Given the description of an element on the screen output the (x, y) to click on. 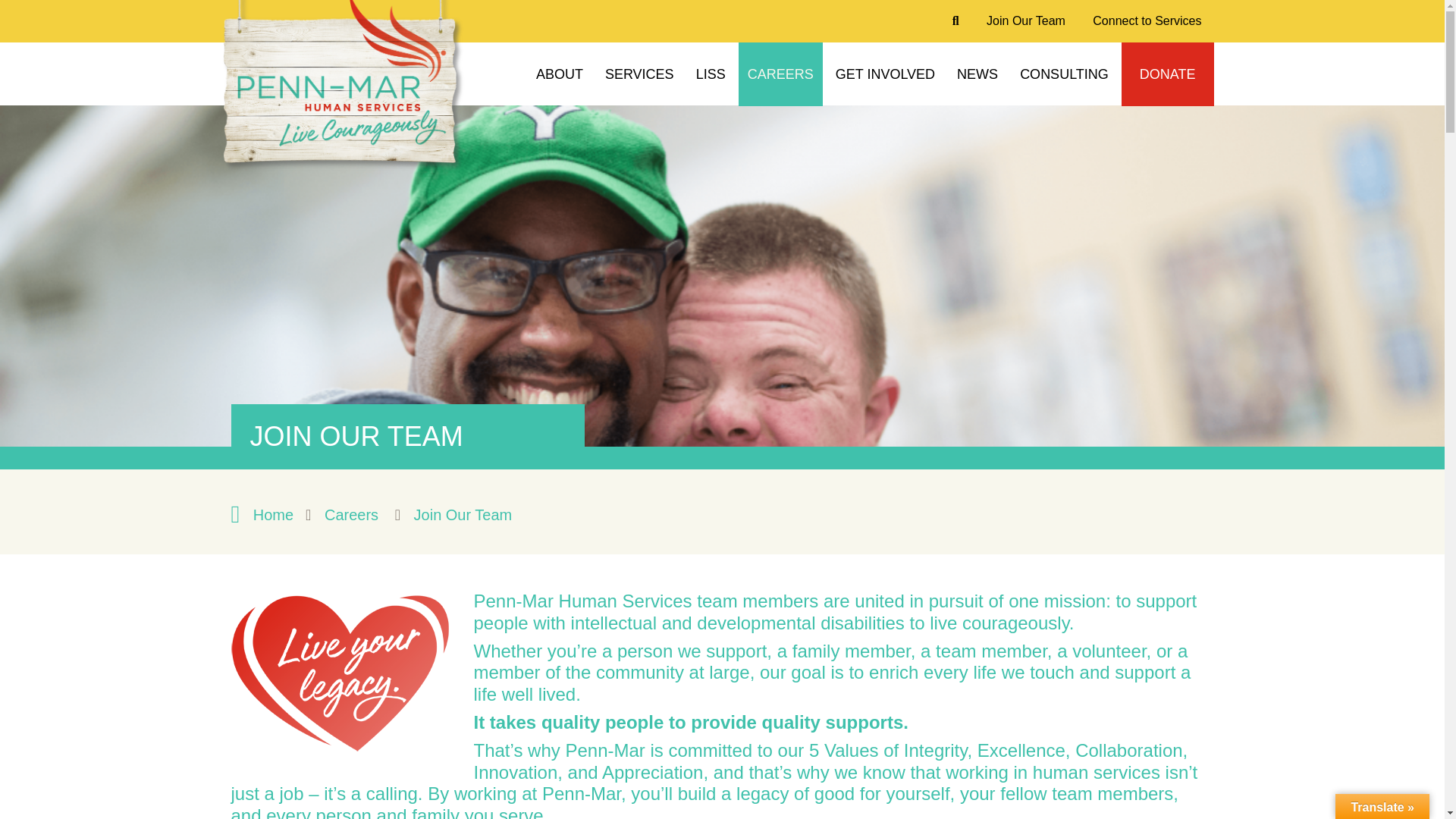
Join Our Team (1025, 21)
Connect to Services (1146, 21)
ABOUT (559, 74)
CAREERS (780, 74)
LISS (711, 74)
SERVICES (638, 74)
GET INVOLVED (885, 74)
